Given the description of an element on the screen output the (x, y) to click on. 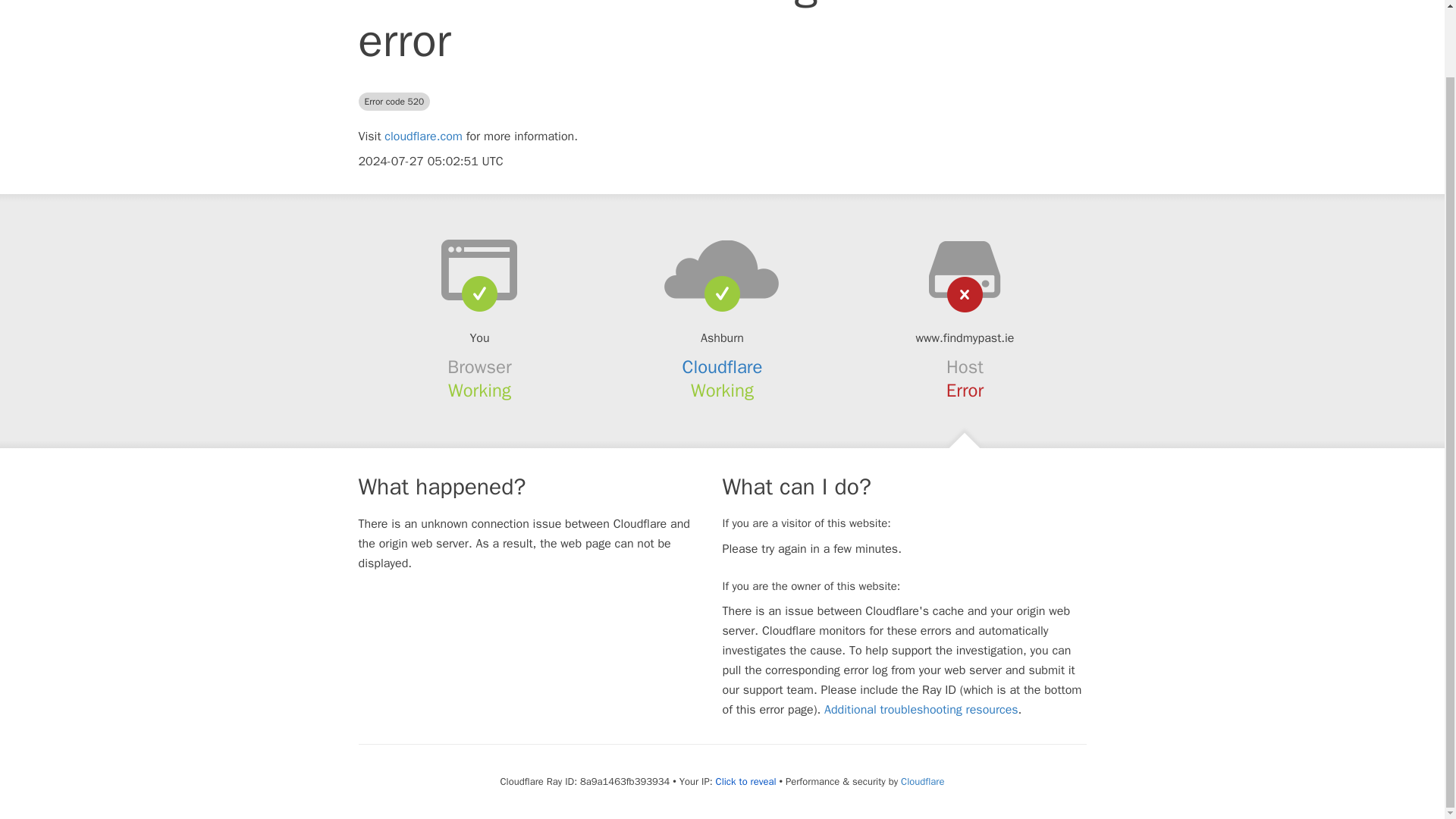
Cloudflare (722, 366)
Click to reveal (746, 781)
cloudflare.com (423, 136)
Cloudflare (922, 780)
Additional troubleshooting resources (920, 709)
